Given the description of an element on the screen output the (x, y) to click on. 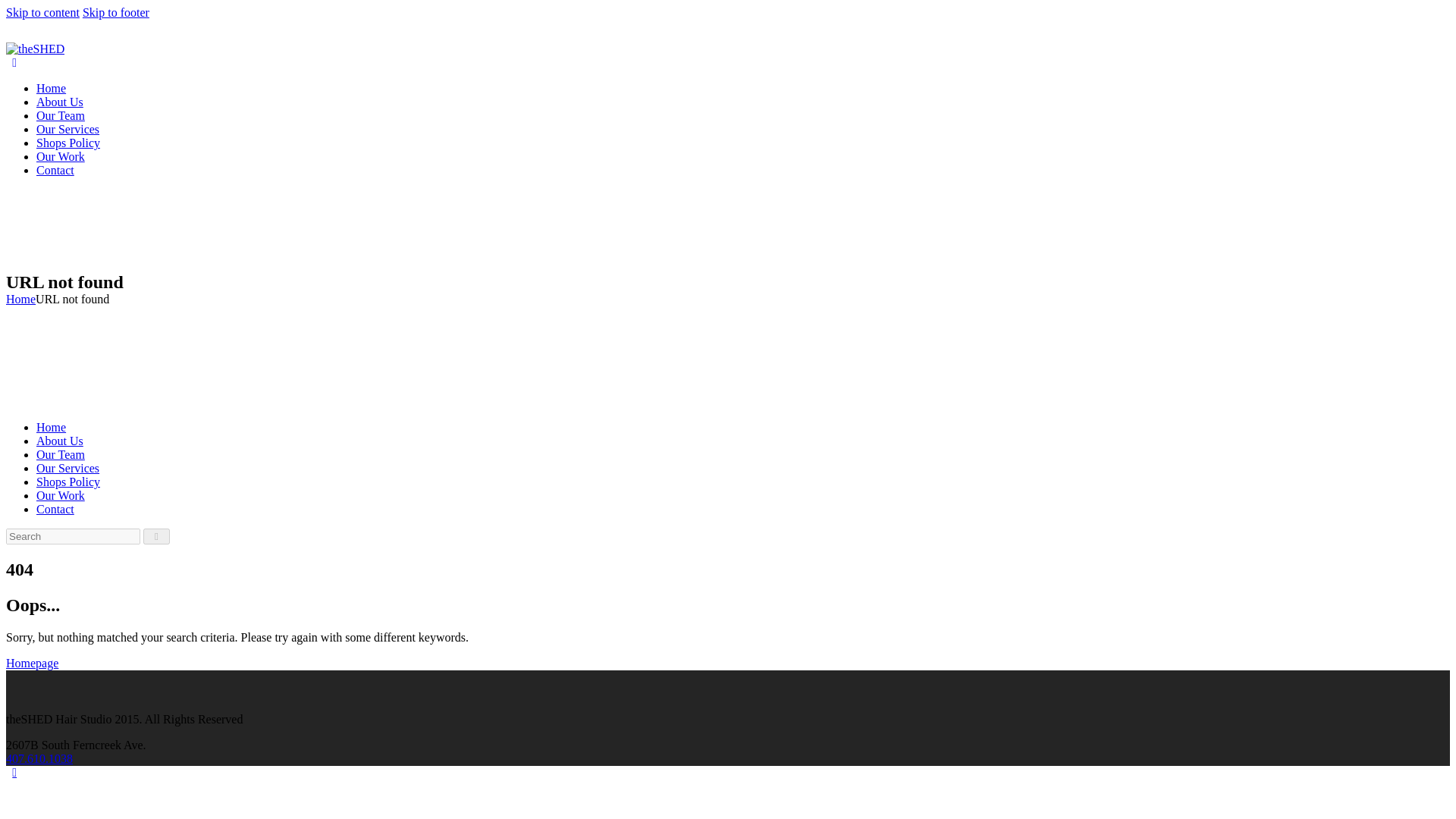
Home (50, 88)
Contact (55, 508)
Our Services (67, 468)
Skip to footer (115, 11)
Our Services (67, 128)
Our Work (60, 155)
Shops Policy (68, 142)
Skip to content (42, 11)
Our Team (60, 115)
Contact (55, 169)
